Given the description of an element on the screen output the (x, y) to click on. 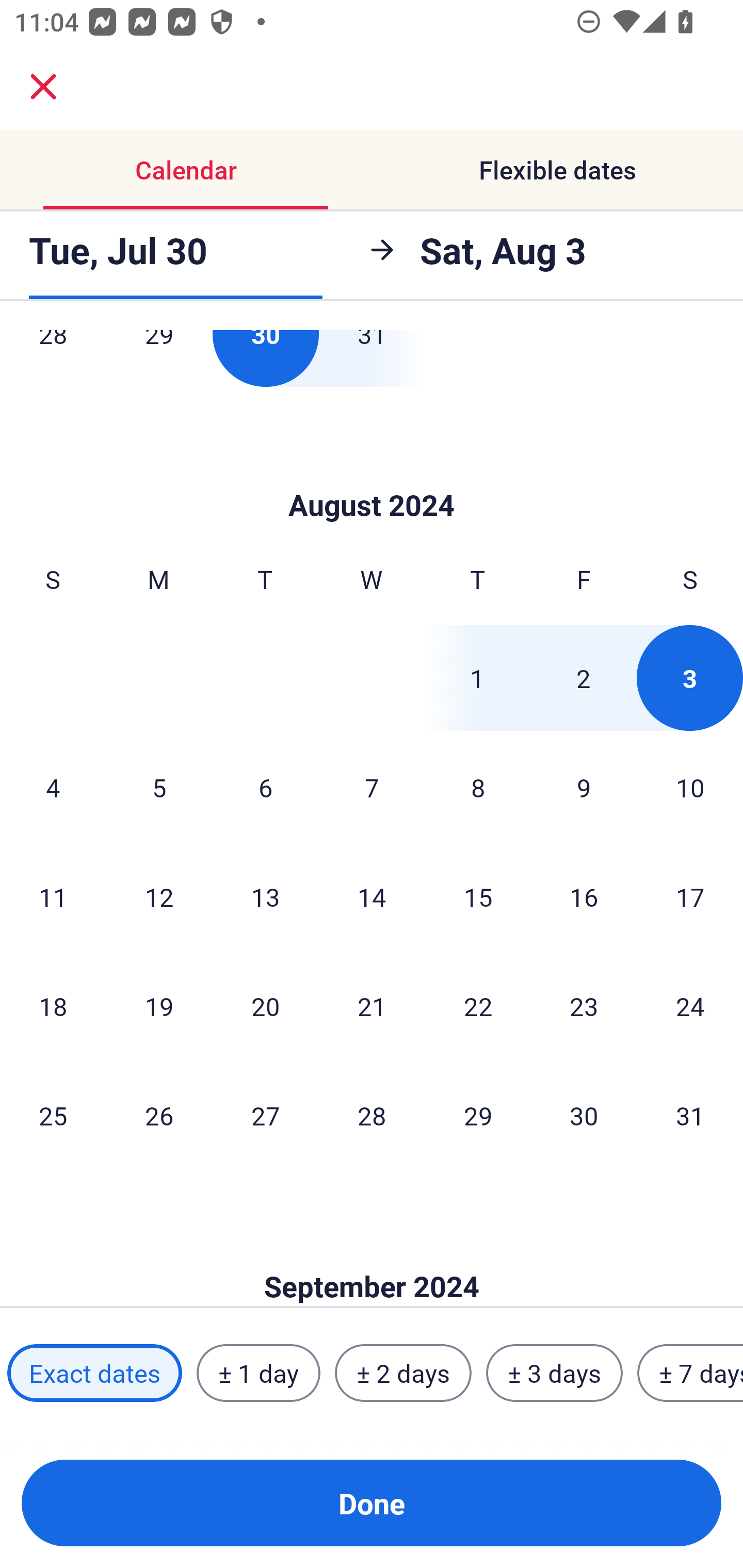
close. (43, 86)
Flexible dates (557, 170)
Skip to Done (371, 474)
4 Sunday, August 4, 2024 (53, 786)
5 Monday, August 5, 2024 (159, 786)
6 Tuesday, August 6, 2024 (265, 786)
7 Wednesday, August 7, 2024 (371, 786)
8 Thursday, August 8, 2024 (477, 786)
9 Friday, August 9, 2024 (584, 786)
10 Saturday, August 10, 2024 (690, 786)
11 Sunday, August 11, 2024 (53, 896)
12 Monday, August 12, 2024 (159, 896)
13 Tuesday, August 13, 2024 (265, 896)
14 Wednesday, August 14, 2024 (371, 896)
15 Thursday, August 15, 2024 (477, 896)
16 Friday, August 16, 2024 (584, 896)
17 Saturday, August 17, 2024 (690, 896)
18 Sunday, August 18, 2024 (53, 1005)
19 Monday, August 19, 2024 (159, 1005)
20 Tuesday, August 20, 2024 (265, 1005)
21 Wednesday, August 21, 2024 (371, 1005)
22 Thursday, August 22, 2024 (477, 1005)
23 Friday, August 23, 2024 (584, 1005)
24 Saturday, August 24, 2024 (690, 1005)
25 Sunday, August 25, 2024 (53, 1115)
26 Monday, August 26, 2024 (159, 1115)
27 Tuesday, August 27, 2024 (265, 1115)
28 Wednesday, August 28, 2024 (371, 1115)
29 Thursday, August 29, 2024 (477, 1115)
30 Friday, August 30, 2024 (584, 1115)
31 Saturday, August 31, 2024 (690, 1115)
Skip to Done (371, 1255)
Exact dates (94, 1372)
± 1 day (258, 1372)
± 2 days (403, 1372)
± 3 days (553, 1372)
± 7 days (690, 1372)
Done (371, 1502)
